Given the description of an element on the screen output the (x, y) to click on. 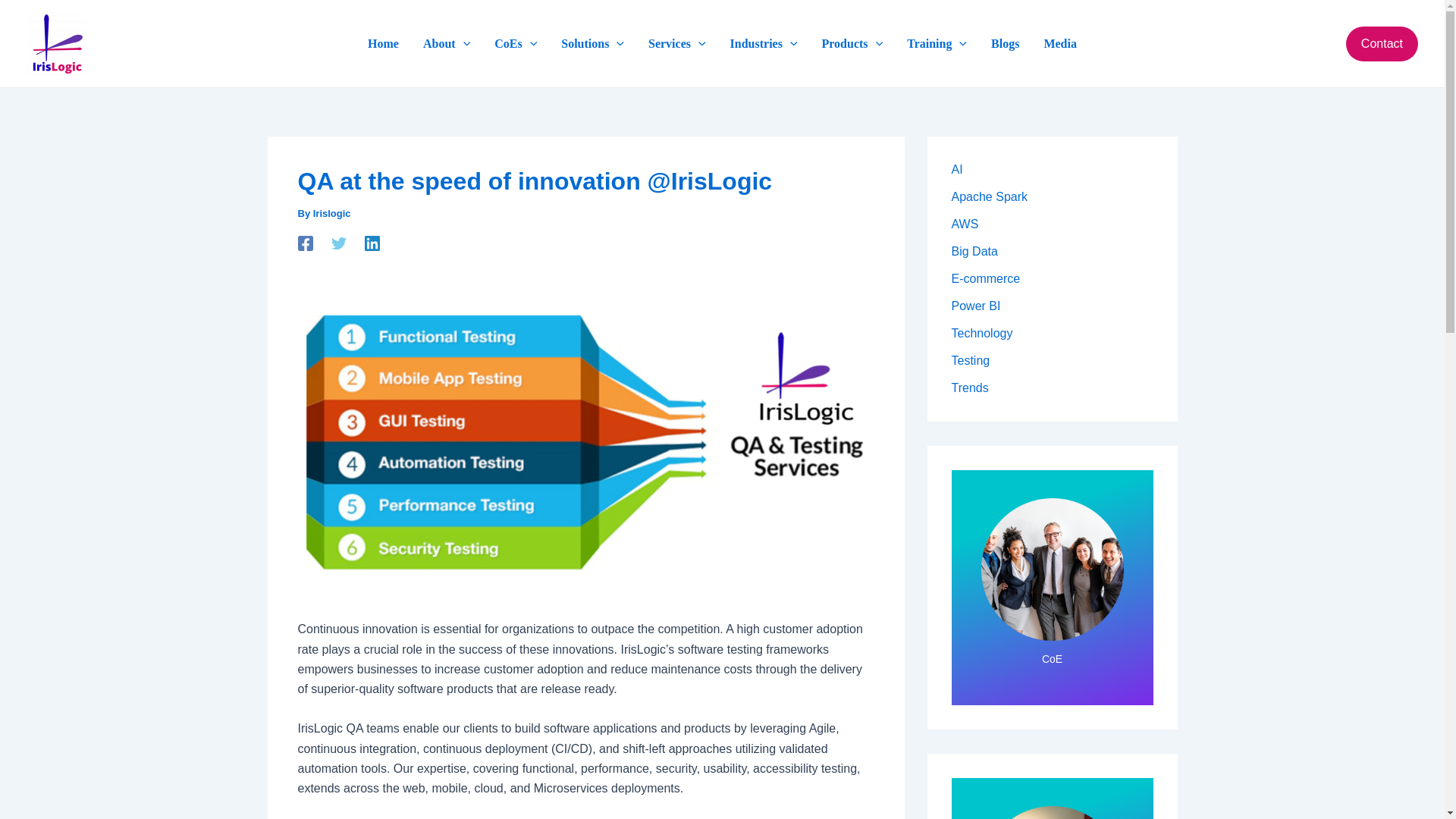
CoEs (514, 43)
About (445, 43)
View all posts by Irislogic (331, 213)
Home (382, 43)
